Given the description of an element on the screen output the (x, y) to click on. 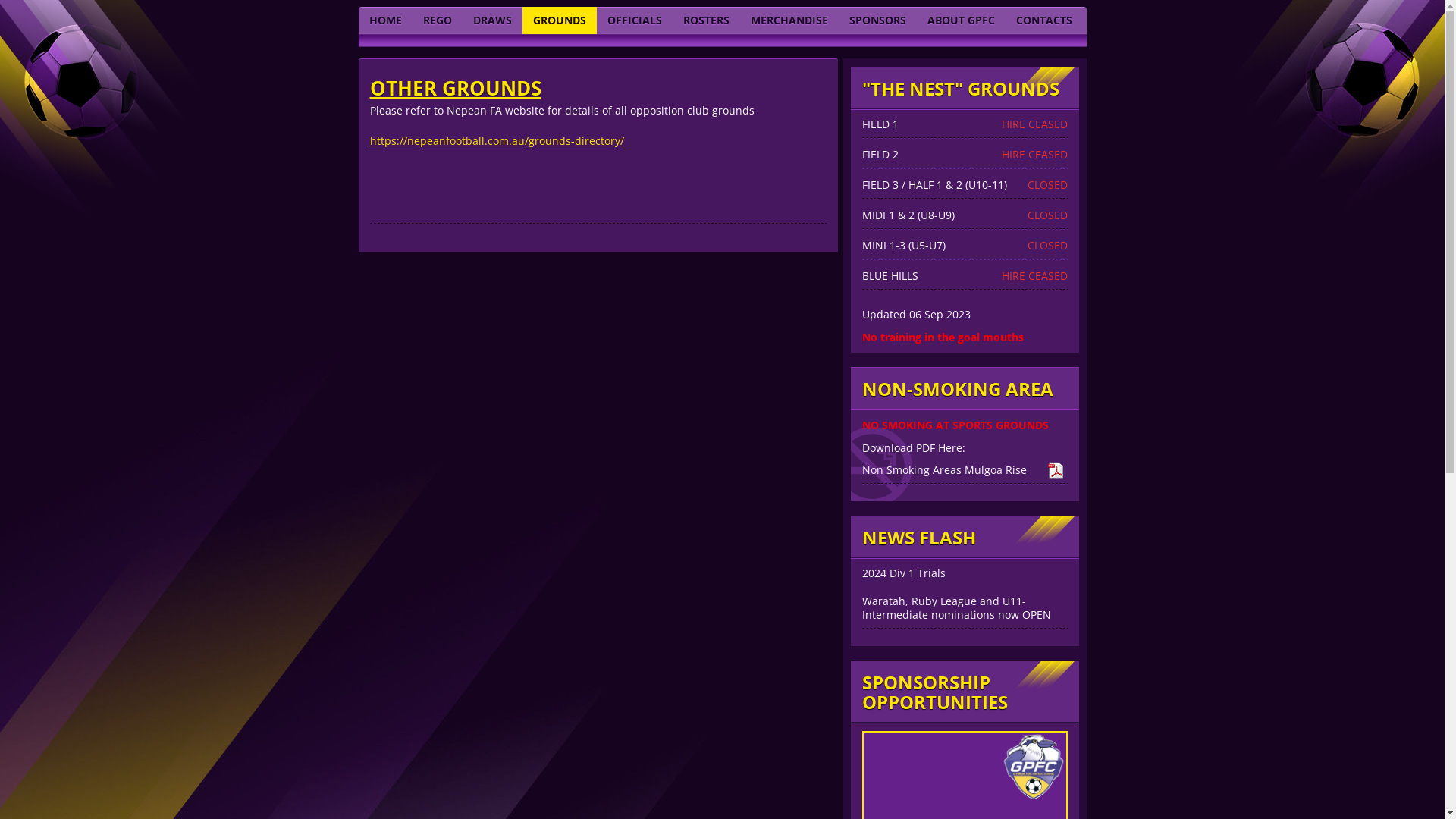
ROSTERS Element type: text (705, 20)
SPONSORS Element type: text (877, 20)
OTHER GROUNDS Element type: text (455, 87)
ABOUT GPFC Element type: text (960, 20)
MERCHANDISE Element type: text (789, 20)
CONTACTS Element type: text (1043, 20)
REGO Element type: text (437, 20)
HOME Element type: text (384, 20)
OFFICIALS Element type: text (633, 20)
https://nepeanfootball.com.au/grounds-directory/ Element type: text (497, 140)
DRAWS Element type: text (492, 20)
GROUNDS Element type: text (558, 20)
